Given the description of an element on the screen output the (x, y) to click on. 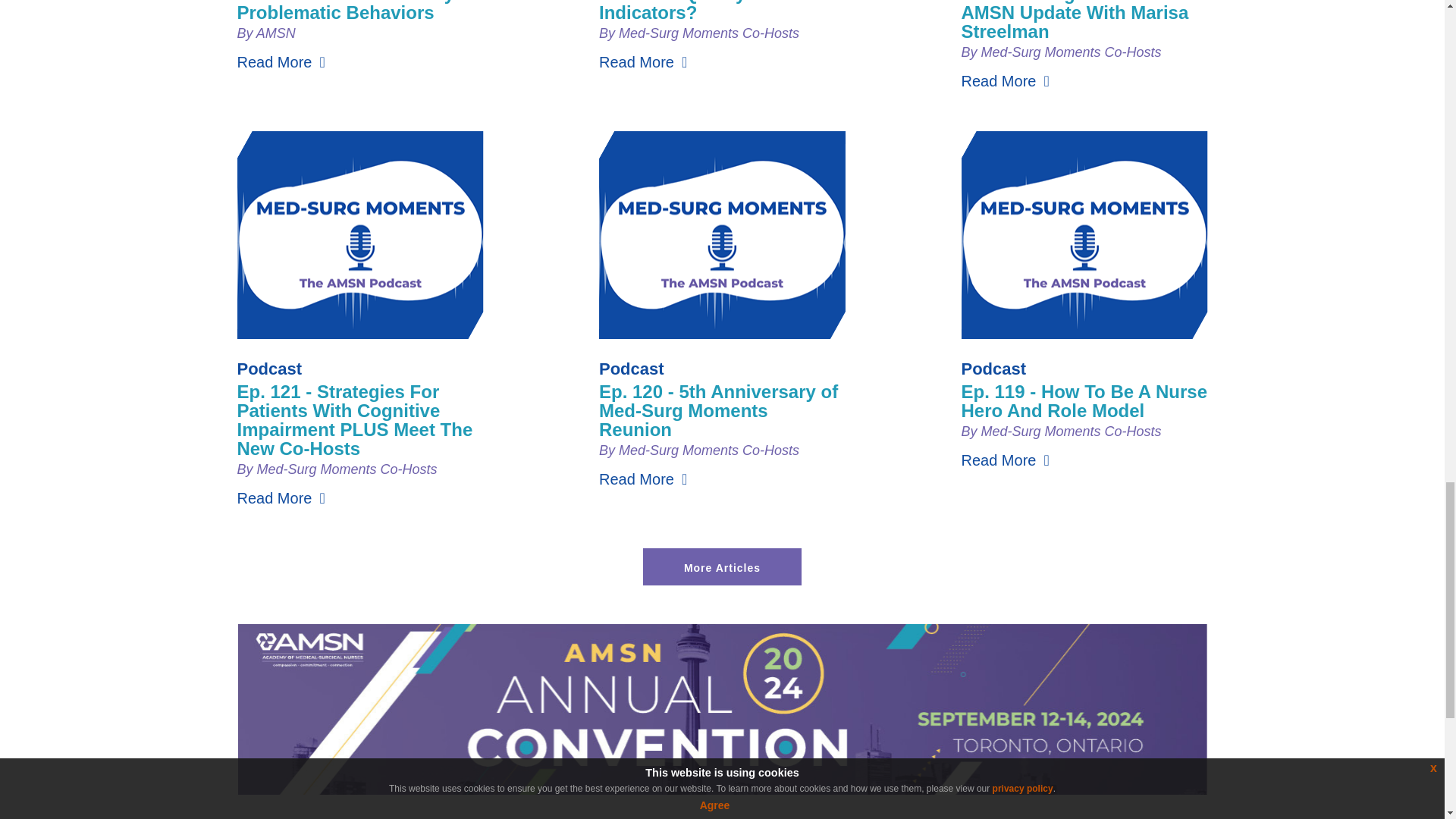
Read More (642, 62)
2024 Annual Convention (722, 789)
Ep. 123 - What Are Nursing-Sensitive Quality Indicators? (718, 11)
Read More (279, 62)
